Given the description of an element on the screen output the (x, y) to click on. 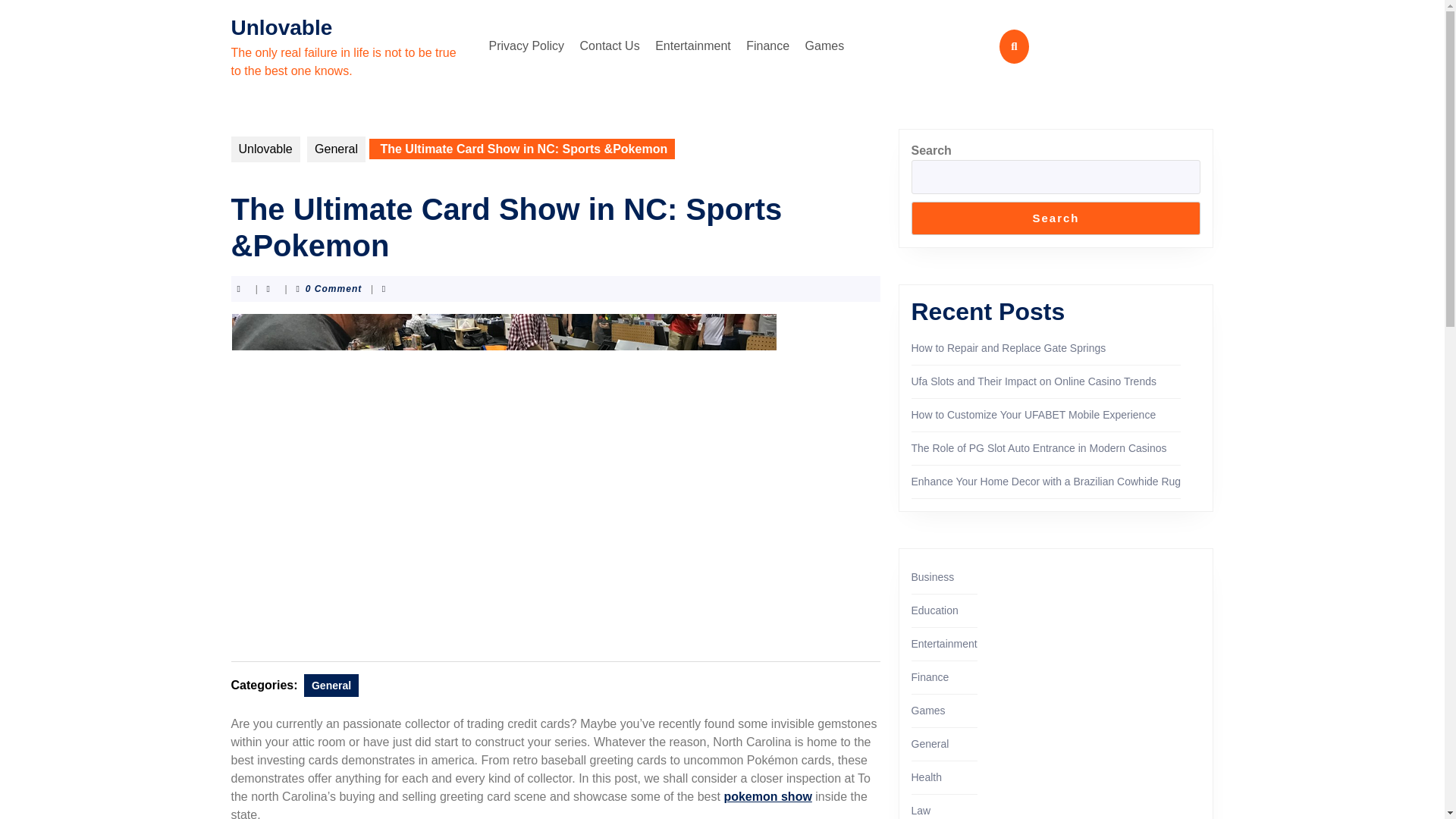
Search (1056, 218)
Business (933, 576)
Privacy Policy (525, 46)
Finance (930, 676)
Enhance Your Home Decor with a Brazilian Cowhide Rug (1045, 481)
The Role of PG Slot Auto Entrance in Modern Casinos (1039, 448)
General (930, 743)
Ufa Slots and Their Impact on Online Casino Trends (1033, 381)
Entertainment (943, 644)
How to Customize Your UFABET Mobile Experience (1033, 414)
